Given the description of an element on the screen output the (x, y) to click on. 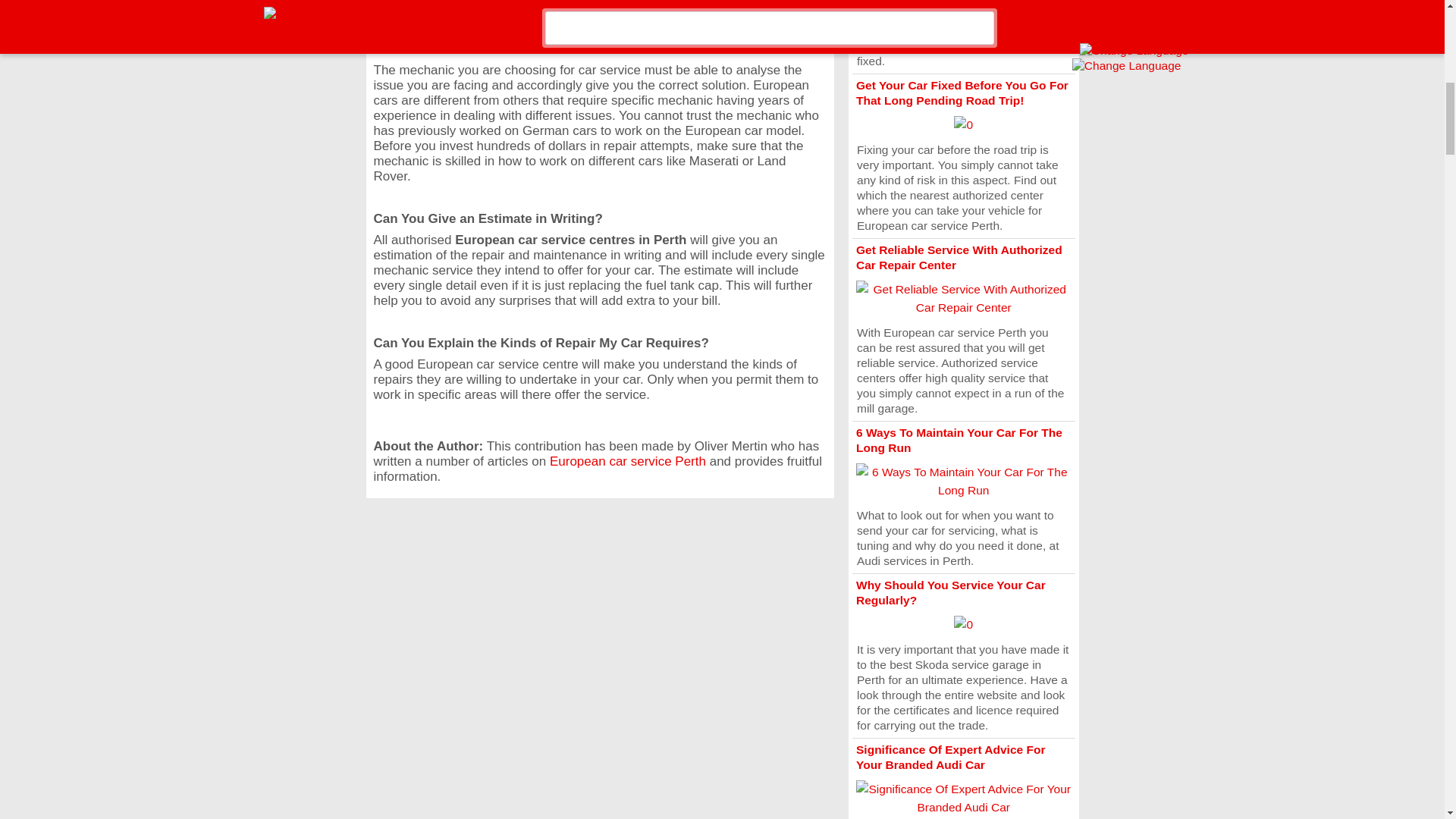
6 Ways To Maintain Your Car For The Long Run (959, 439)
Why Should You Service Your Car Regularly? (950, 592)
European car service Perth (628, 461)
Get Reliable Service With Authorized Car Repair Center (959, 257)
